Given the description of an element on the screen output the (x, y) to click on. 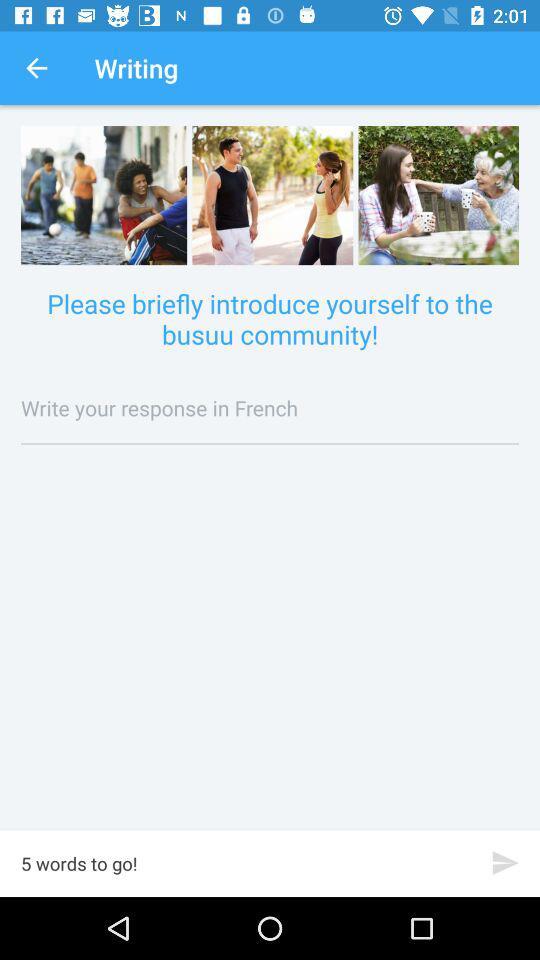
text area for response (270, 407)
